Given the description of an element on the screen output the (x, y) to click on. 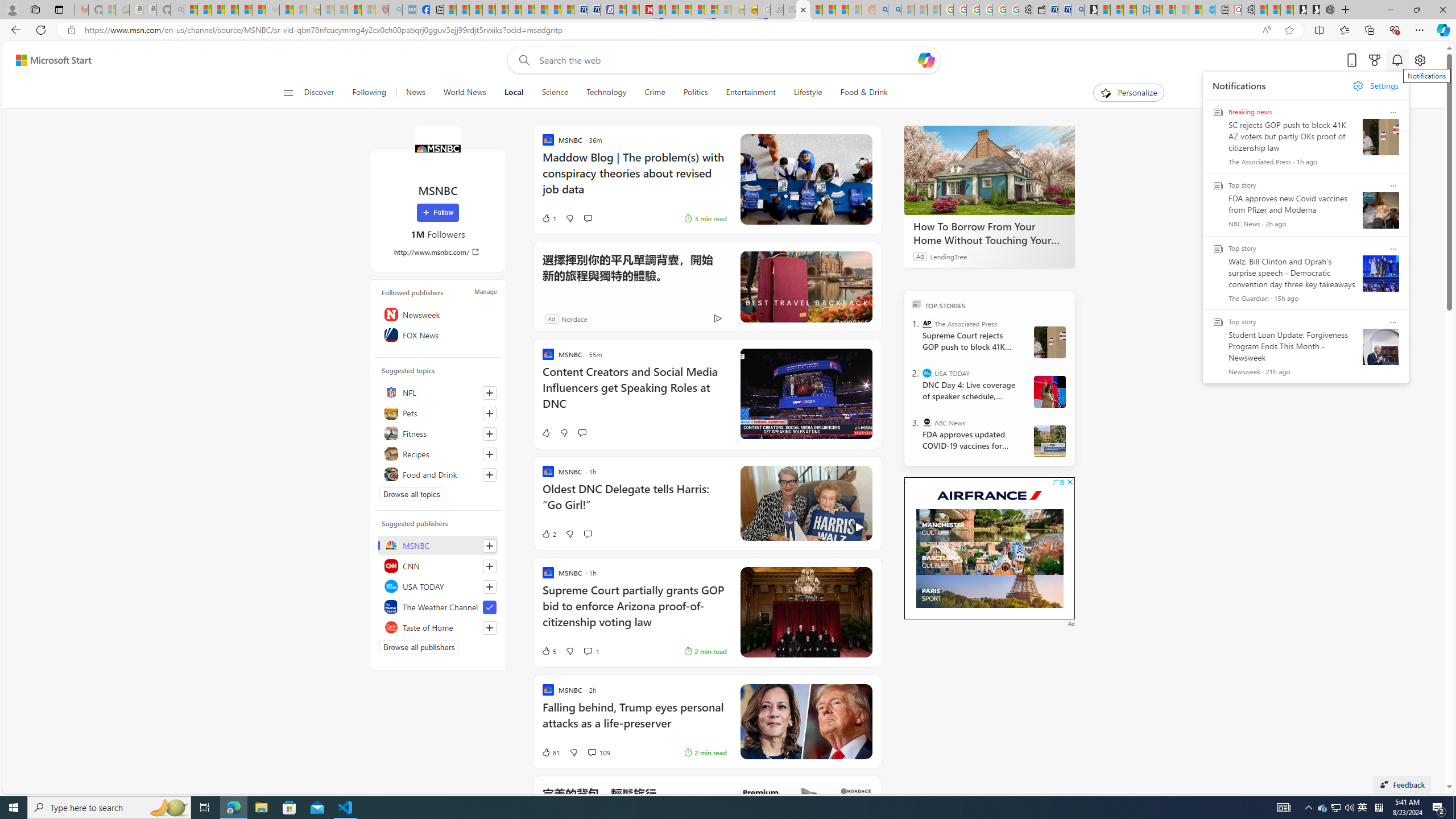
http://www.msnbc.com/ (438, 251)
Technology (606, 92)
The Associated Press (927, 323)
